Given the description of an element on the screen output the (x, y) to click on. 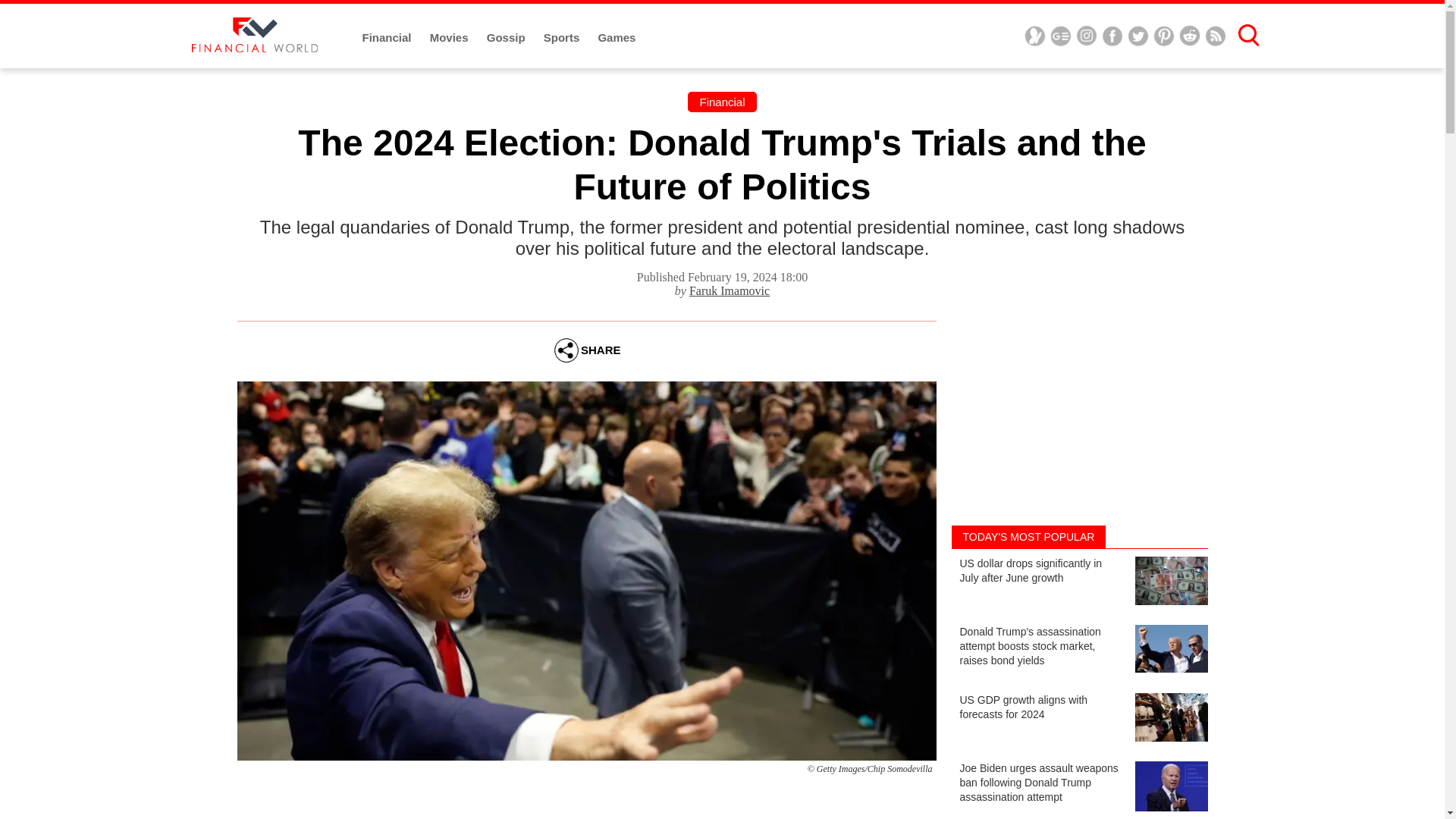
Financial (388, 37)
Games (615, 37)
Sports (563, 37)
Movies (450, 37)
Faruk Imamovic (729, 290)
US dollar drops significantly in July after June growth (1078, 582)
Gossip (507, 37)
Financial (721, 101)
US GDP growth aligns with forecasts for 2024 (1078, 719)
